Given the description of an element on the screen output the (x, y) to click on. 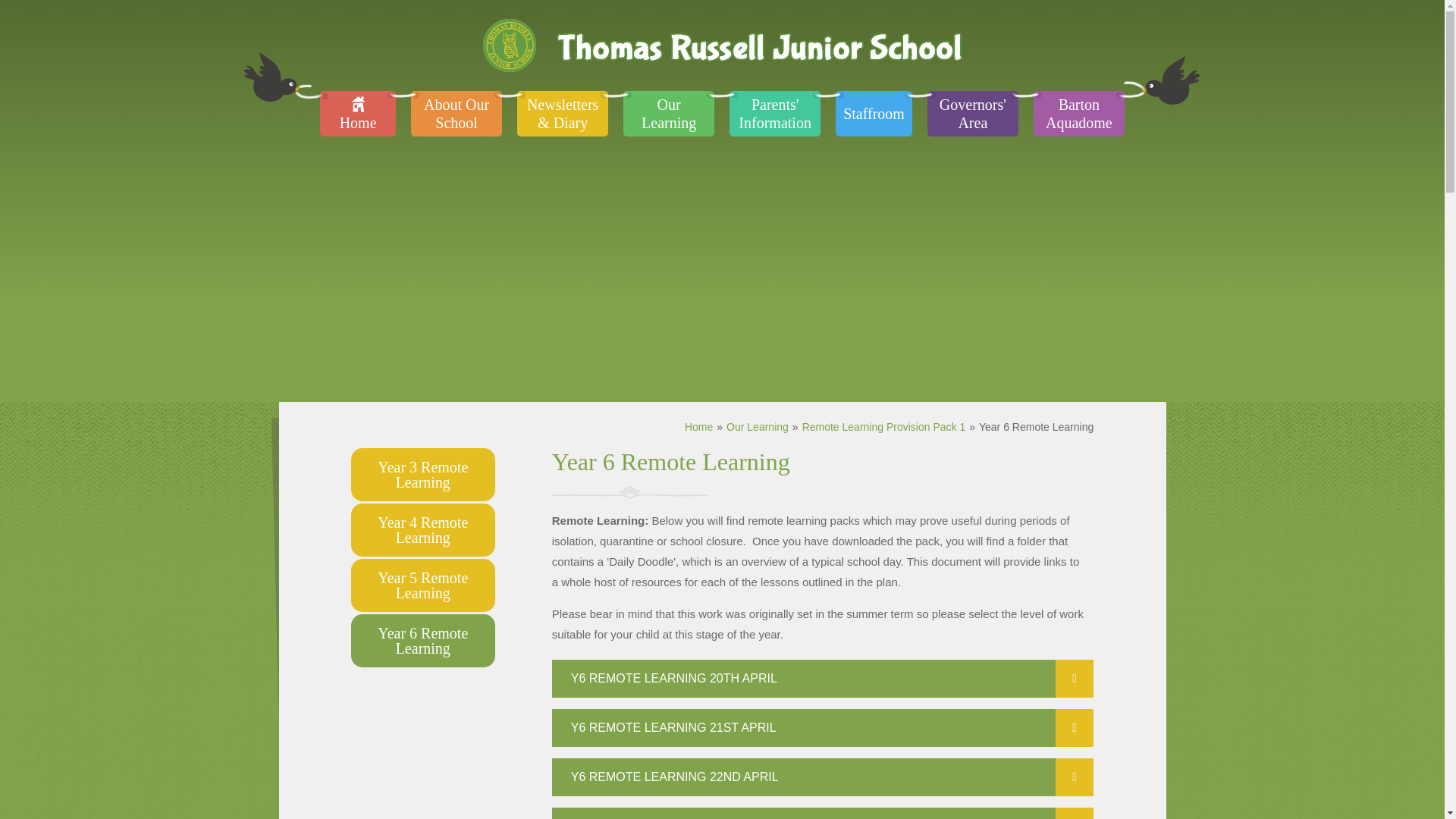
Our Learning (757, 426)
Download (1074, 813)
Barton Aquadome (1078, 113)
Y6 REMOTE LEARNING 20TH APRIL (822, 678)
Download (1074, 777)
Y6 REMOTE LEARNING 23RD APRIL (822, 813)
Governors' Area (972, 113)
About Our School (456, 113)
Home (358, 113)
Remote Learning Provision Pack 1 (884, 426)
Staffroom (873, 113)
Year 6 Remote Learning (1035, 426)
Y6 REMOTE LEARNING 22ND APRIL (822, 777)
Our Learning (668, 113)
Y6 REMOTE LEARNING 21ST APRIL (822, 727)
